Given the description of an element on the screen output the (x, y) to click on. 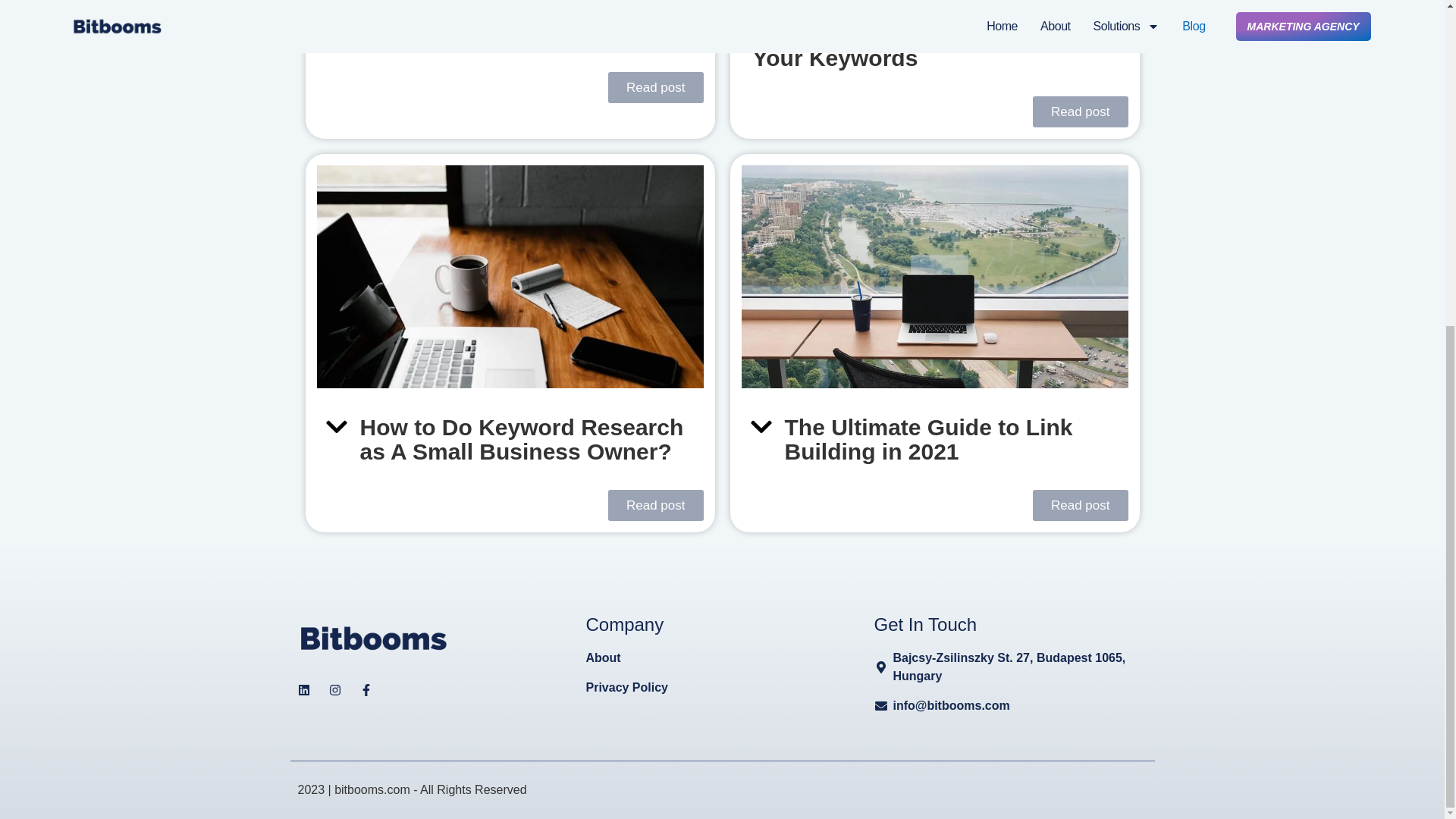
Privacy Policy (722, 687)
Read post (1080, 504)
Read post (655, 504)
Read post (655, 87)
The Ultimate Guide to Link Building in 2021 (927, 439)
Read post (1080, 111)
About (722, 658)
How can SEO take crypto projects to a whole new level? (523, 22)
How to Do Keyword Research as A Small Business Owner? (520, 439)
